Given the description of an element on the screen output the (x, y) to click on. 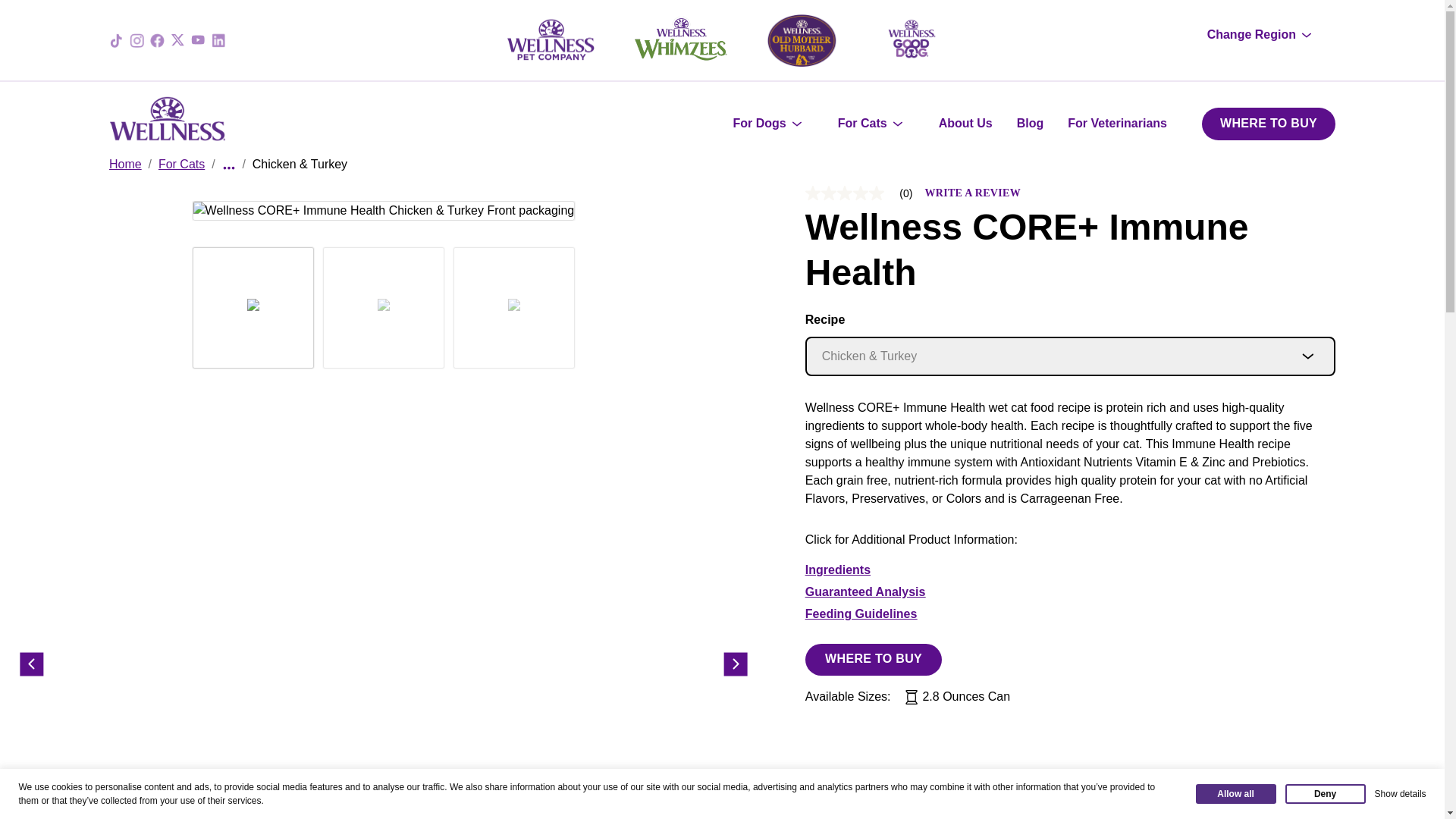
Show details (1400, 816)
